Given the description of an element on the screen output the (x, y) to click on. 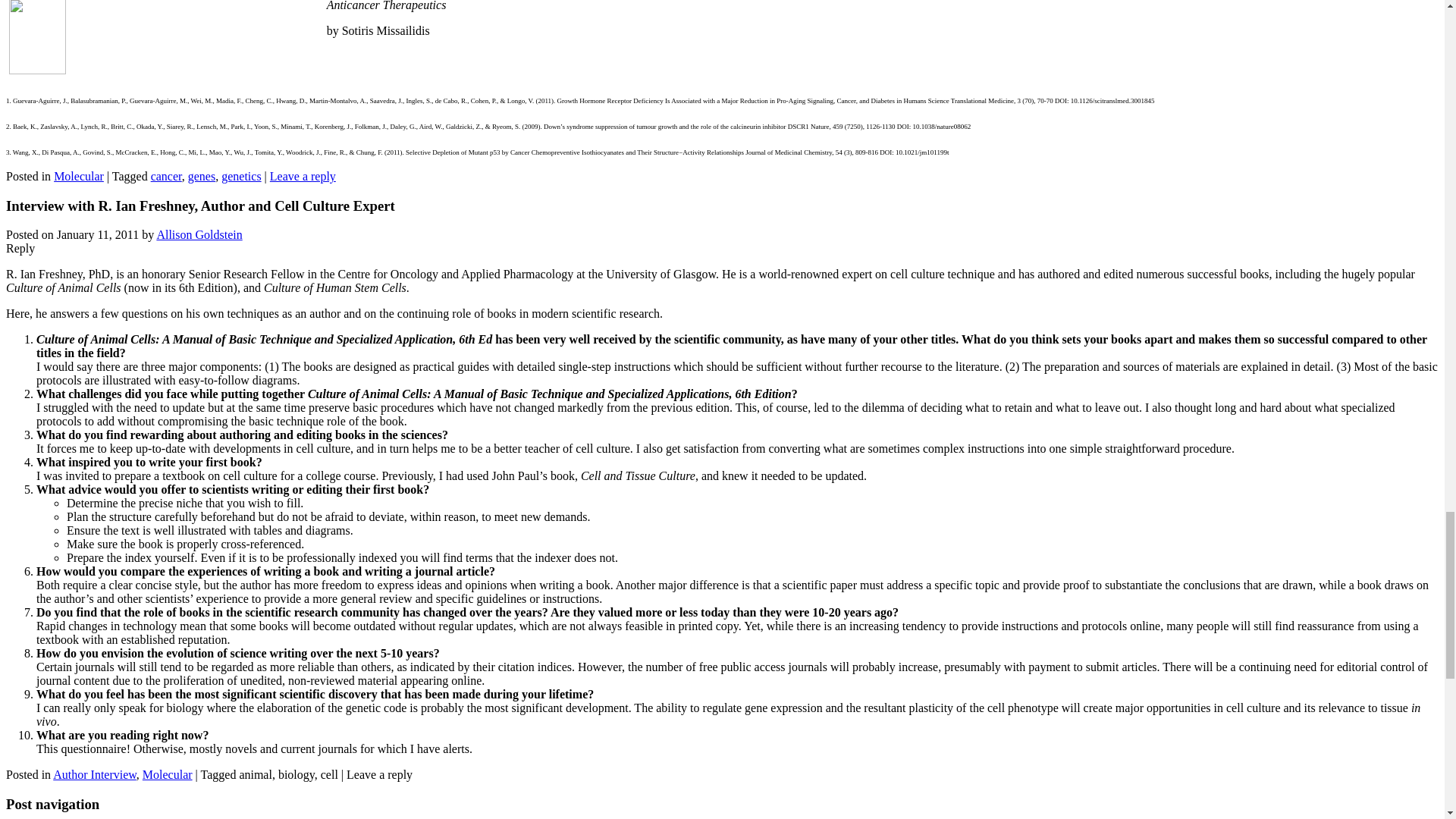
Leave a reply (302, 175)
cancer (166, 175)
Molecular (167, 774)
Molecular (78, 175)
genes (201, 175)
Allison Goldstein (198, 234)
Author Interview (94, 774)
genetics (240, 175)
